Given the description of an element on the screen output the (x, y) to click on. 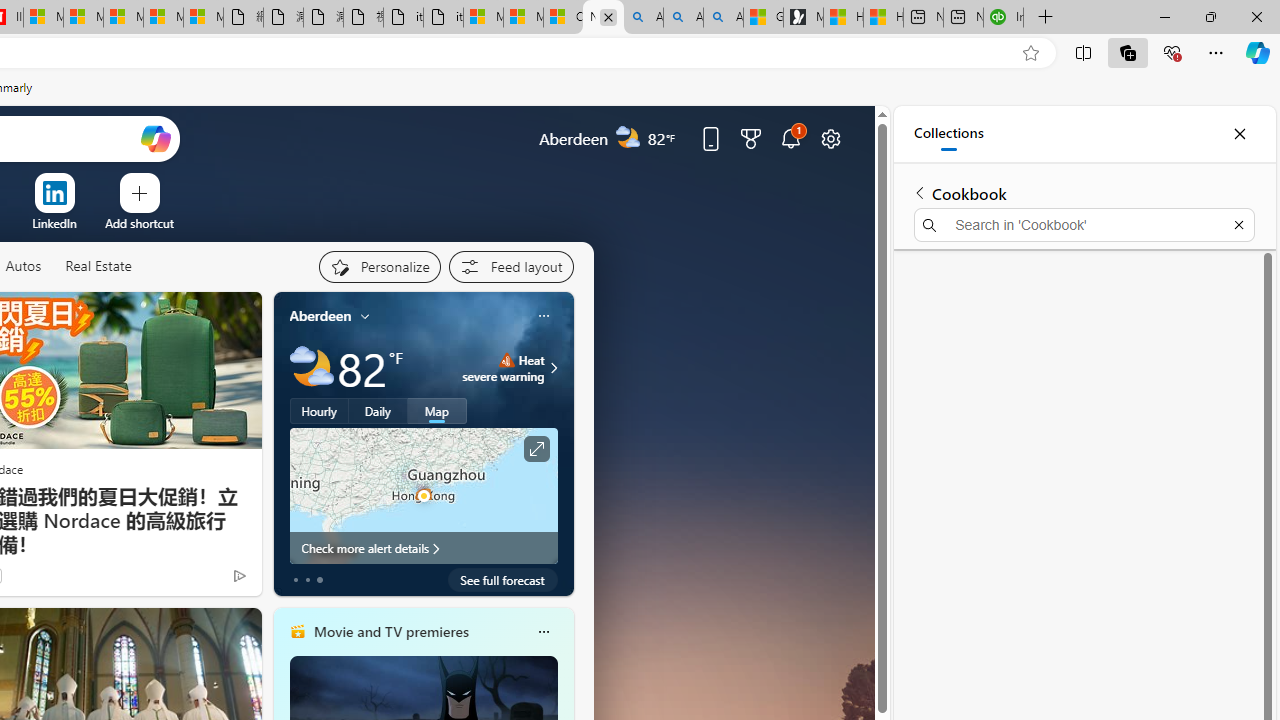
Personalize your feed" (379, 266)
Daily (378, 411)
Class: weather-arrow-glyph (554, 367)
My location (365, 315)
